Given the description of an element on the screen output the (x, y) to click on. 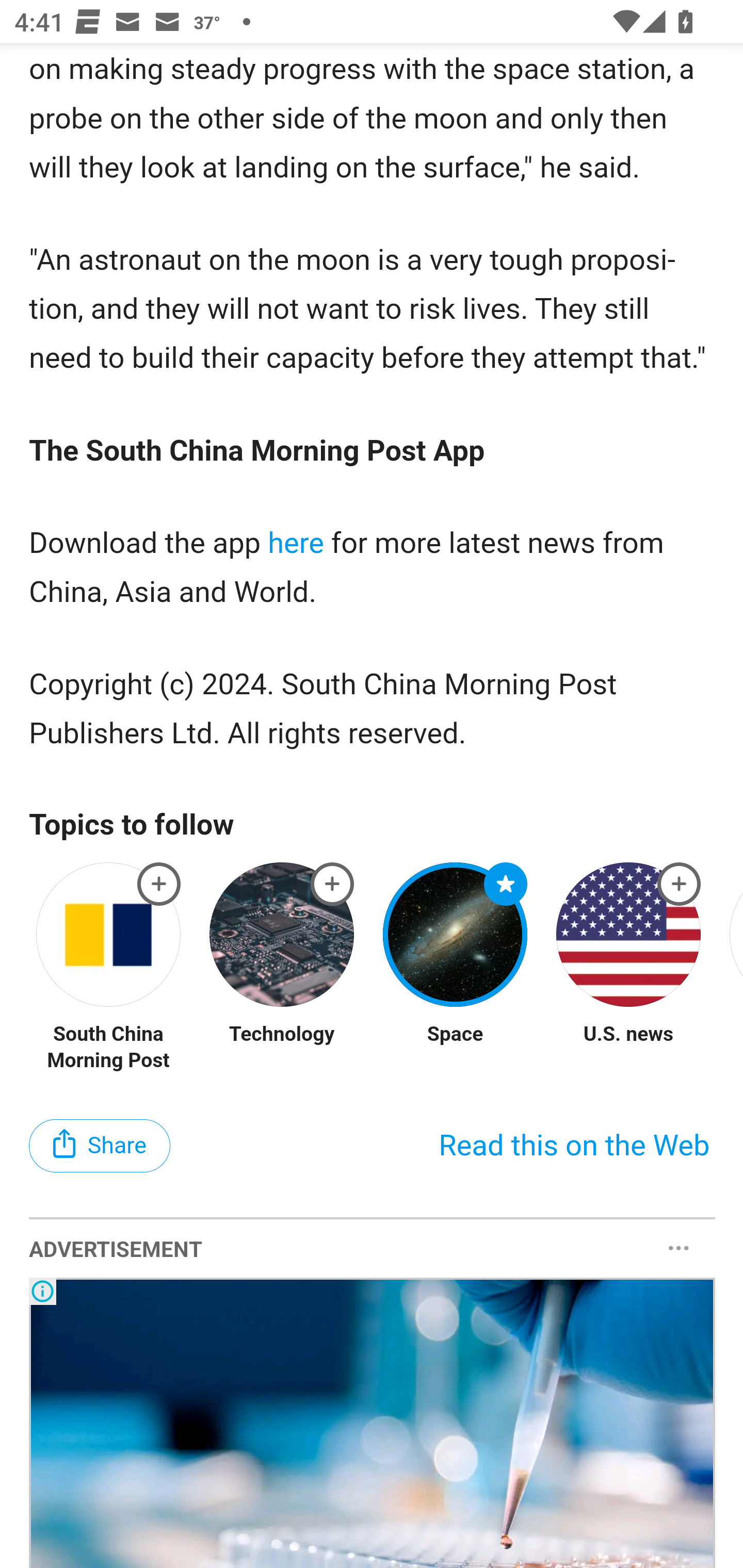
here (296, 544)
South China Morning Post (108, 1048)
Technology (281, 1036)
Space (454, 1036)
U.S. news (628, 1036)
Read this on the Web (573, 1146)
Share (99, 1146)
